Given the description of an element on the screen output the (x, y) to click on. 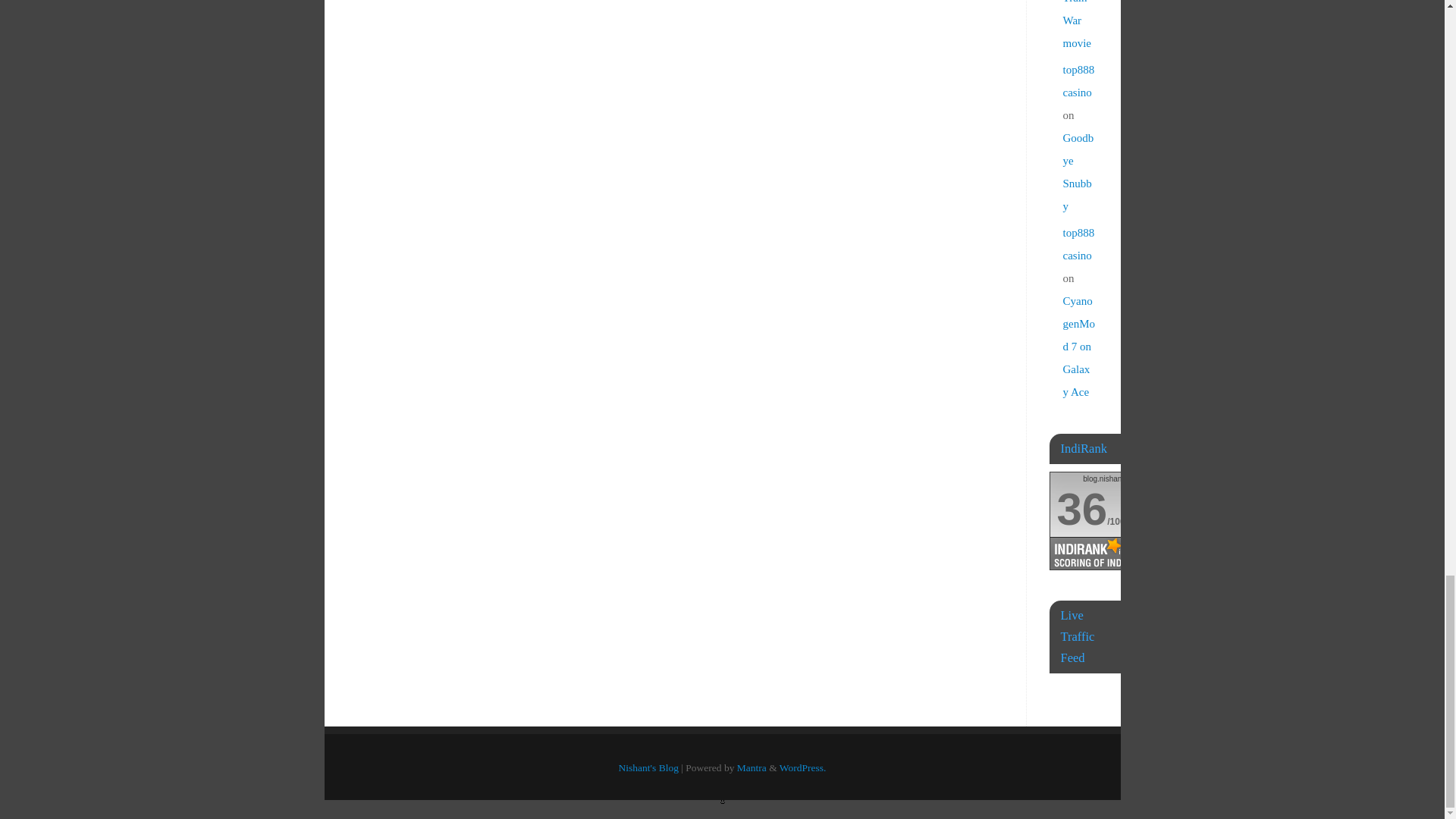
Nishant's Blog (648, 767)
top888casino (1078, 80)
Mantra (751, 767)
Semantic Personal Publishing Platform (802, 767)
36 (1082, 509)
WordPress. (802, 767)
Mantra Theme by Cryout Creations (751, 767)
top888casino (1078, 243)
Nishant's Blog (648, 767)
